Given the description of an element on the screen output the (x, y) to click on. 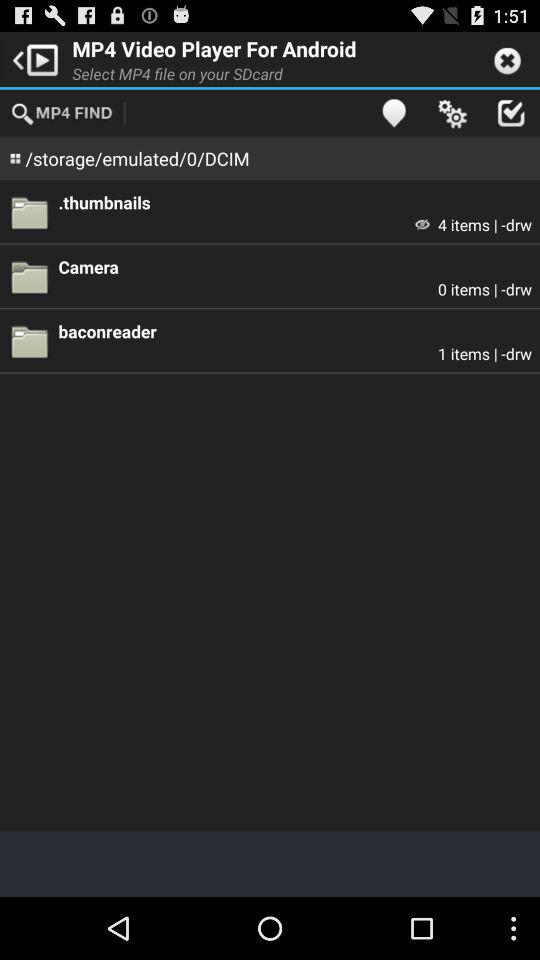
click item above the .thumbnails item (510, 112)
